Given the description of an element on the screen output the (x, y) to click on. 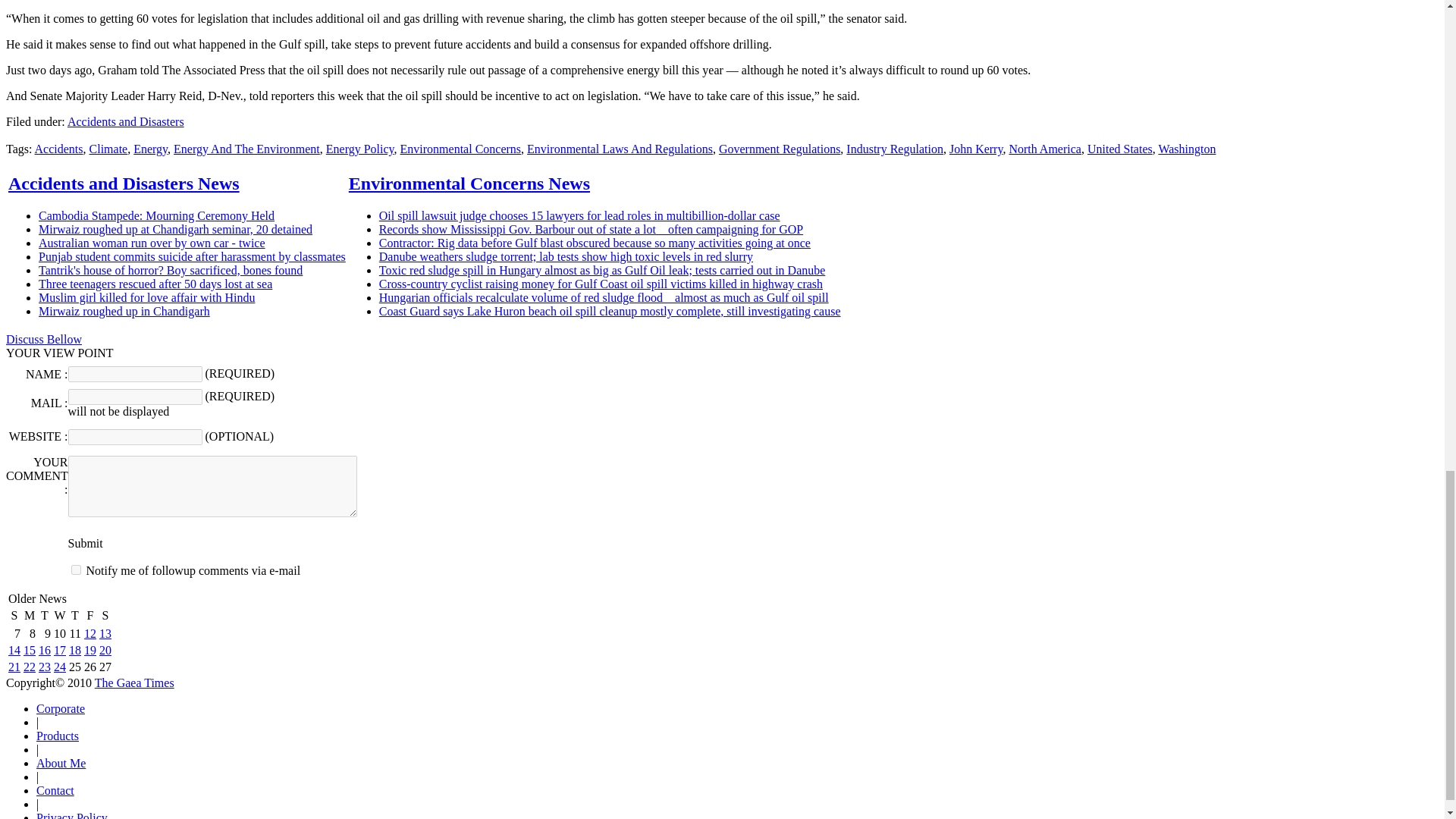
Energy (150, 148)
subscribe (76, 569)
Climate (108, 148)
Accidents and Disasters (125, 121)
Accidents (58, 148)
